Given the description of an element on the screen output the (x, y) to click on. 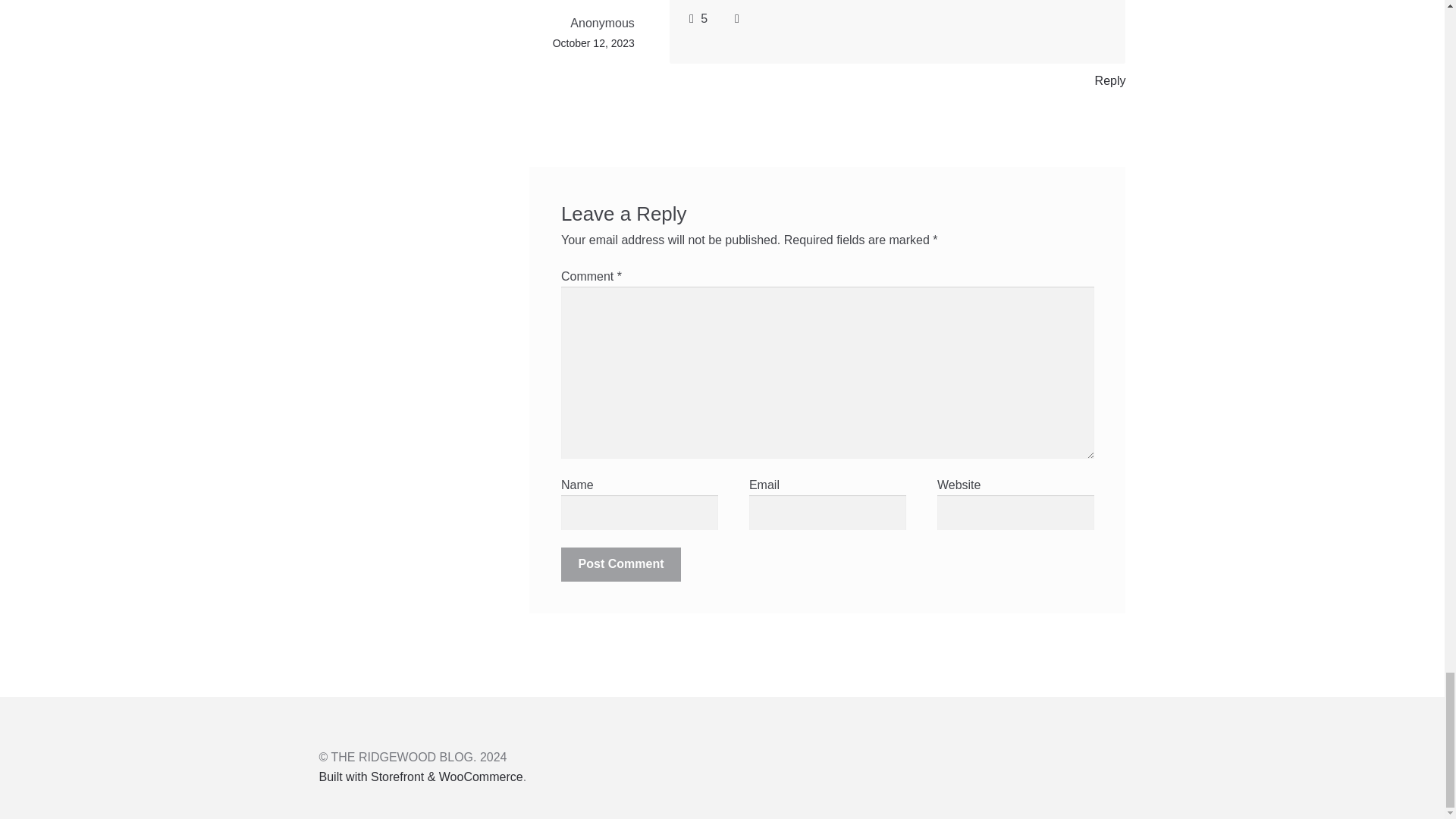
Post Comment (620, 564)
